Given the description of an element on the screen output the (x, y) to click on. 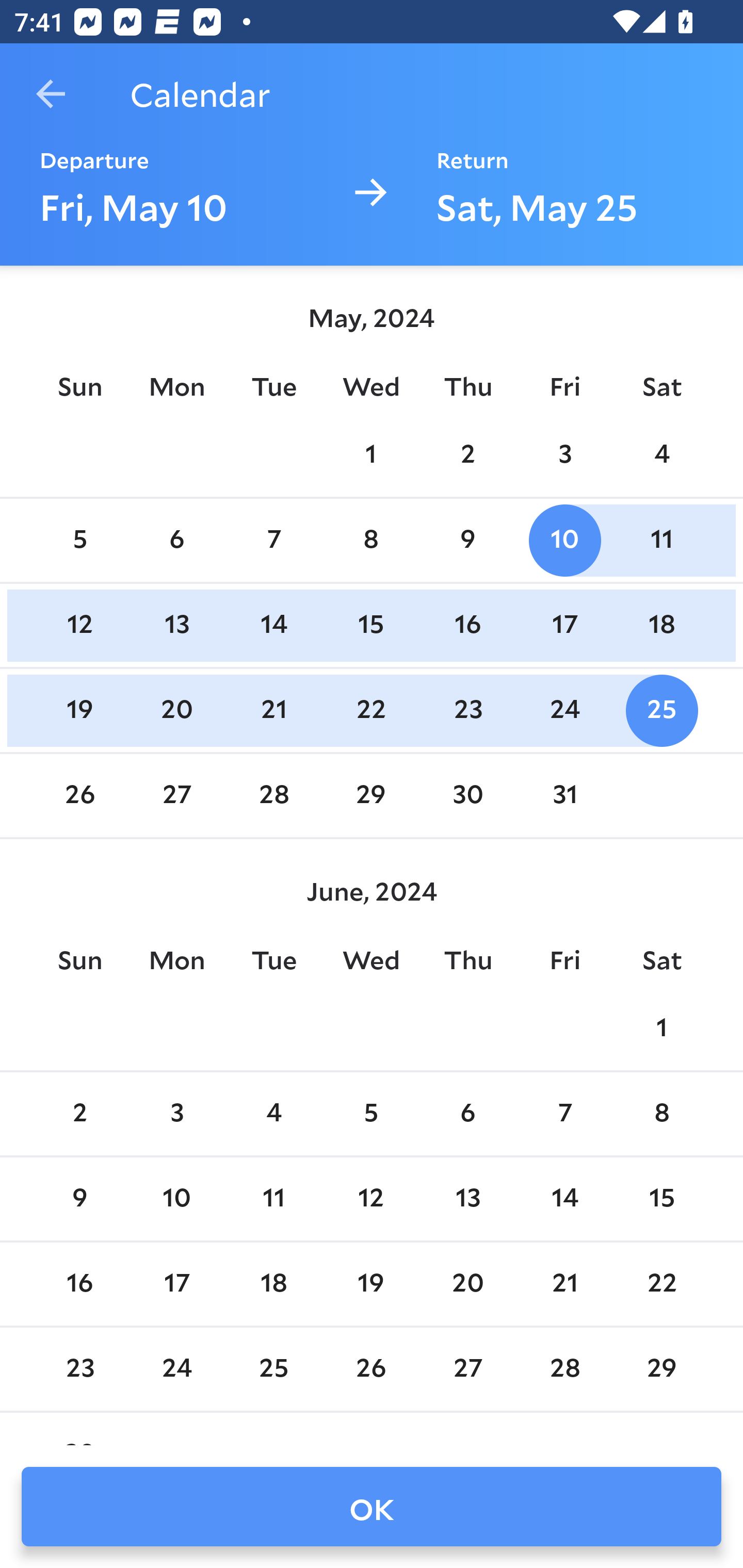
Navigate up (50, 93)
1 (371, 454)
2 (467, 454)
3 (565, 454)
4 (661, 454)
5 (79, 540)
6 (177, 540)
7 (273, 540)
8 (371, 540)
9 (467, 540)
10 (565, 540)
11 (661, 540)
12 (79, 625)
13 (177, 625)
14 (273, 625)
15 (371, 625)
16 (467, 625)
17 (565, 625)
18 (661, 625)
19 (79, 710)
20 (177, 710)
21 (273, 710)
22 (371, 710)
23 (467, 710)
24 (565, 710)
25 (661, 710)
26 (79, 796)
27 (177, 796)
28 (273, 796)
29 (371, 796)
30 (467, 796)
31 (565, 796)
1 (661, 1028)
2 (79, 1114)
3 (177, 1114)
4 (273, 1114)
5 (371, 1114)
6 (467, 1114)
7 (565, 1114)
8 (661, 1114)
9 (79, 1199)
10 (177, 1199)
11 (273, 1199)
12 (371, 1199)
13 (467, 1199)
14 (565, 1199)
15 (661, 1199)
16 (79, 1284)
17 (177, 1284)
18 (273, 1284)
